Given the description of an element on the screen output the (x, y) to click on. 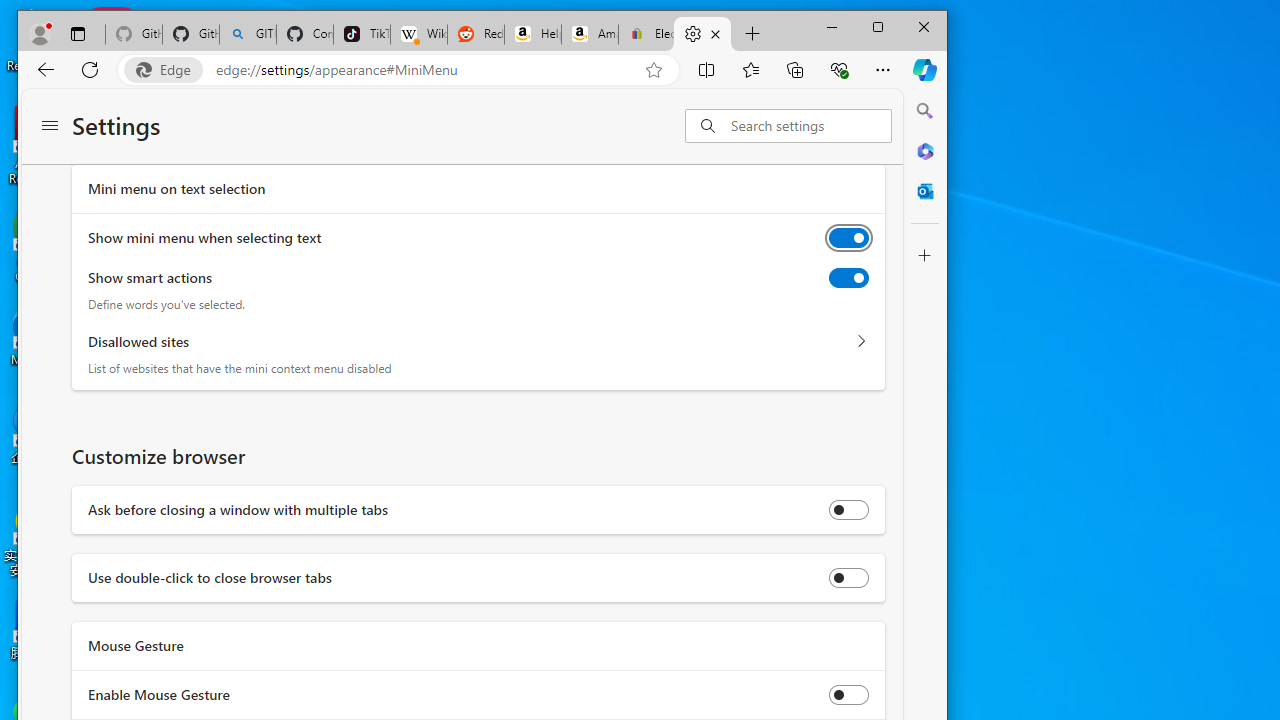
Amazon.com: Deals (589, 34)
Reddit - Dive into anything (476, 34)
TikTok (362, 34)
Electronics, Cars, Fashion, Collectibles & More | eBay (646, 34)
Settings menu (49, 126)
